Given the description of an element on the screen output the (x, y) to click on. 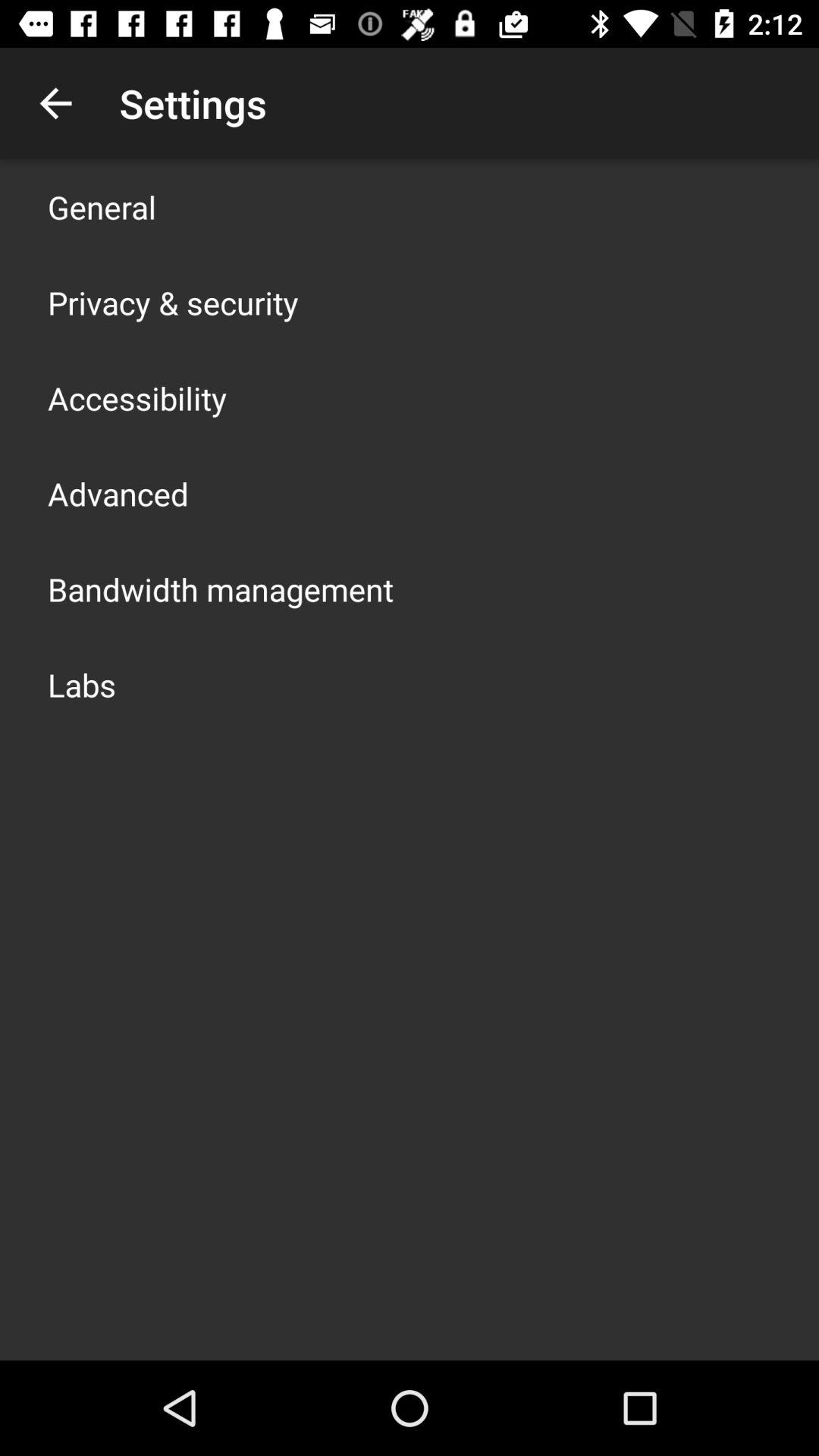
turn off bandwidth management app (220, 588)
